Given the description of an element on the screen output the (x, y) to click on. 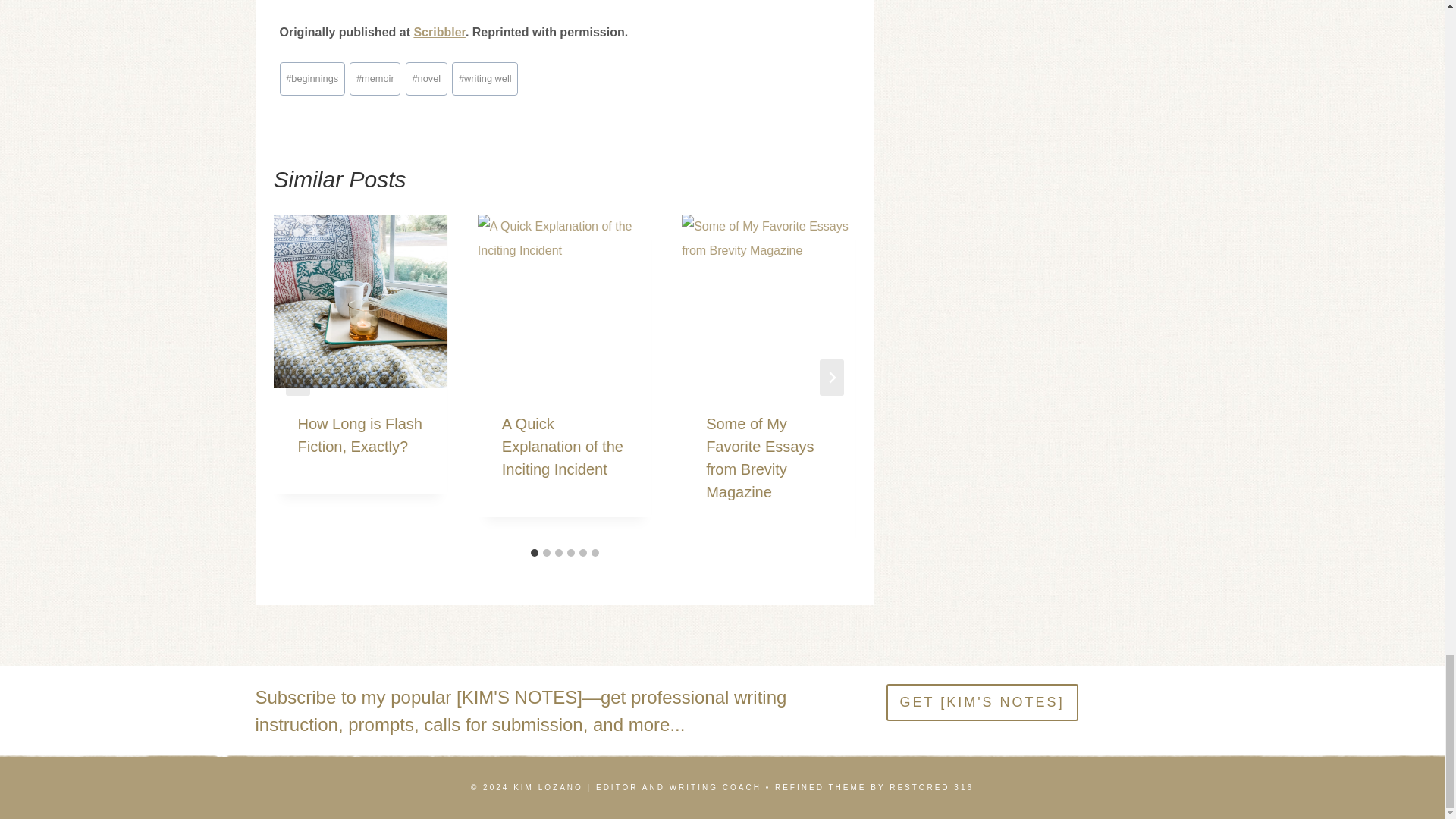
memoir (374, 78)
Scribbler (438, 31)
beginnings (311, 78)
novel (426, 78)
writing well (484, 78)
